Given the description of an element on the screen output the (x, y) to click on. 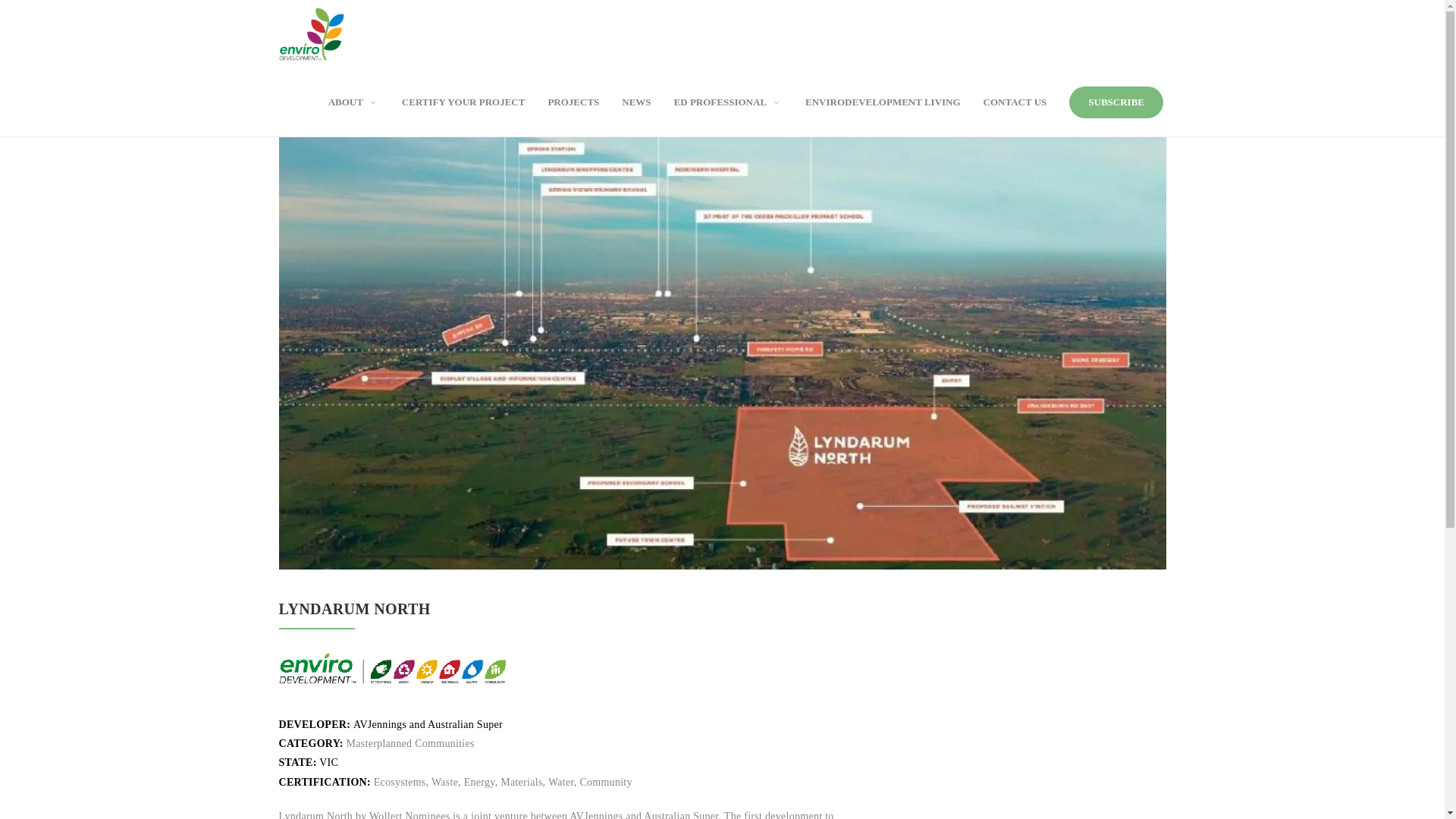
NEWS Element type: text (635, 102)
CONTACT US Element type: text (1015, 102)
CERTIFY YOUR PROJECT Element type: text (463, 102)
PROJECTS Element type: text (573, 102)
ENVIRODEVELOPMENT LIVING Element type: text (882, 102)
ED PROFESSIONAL Element type: text (728, 102)
ABOUT Element type: text (353, 102)
SUBSCRIBE Element type: text (1116, 102)
